Given the description of an element on the screen output the (x, y) to click on. 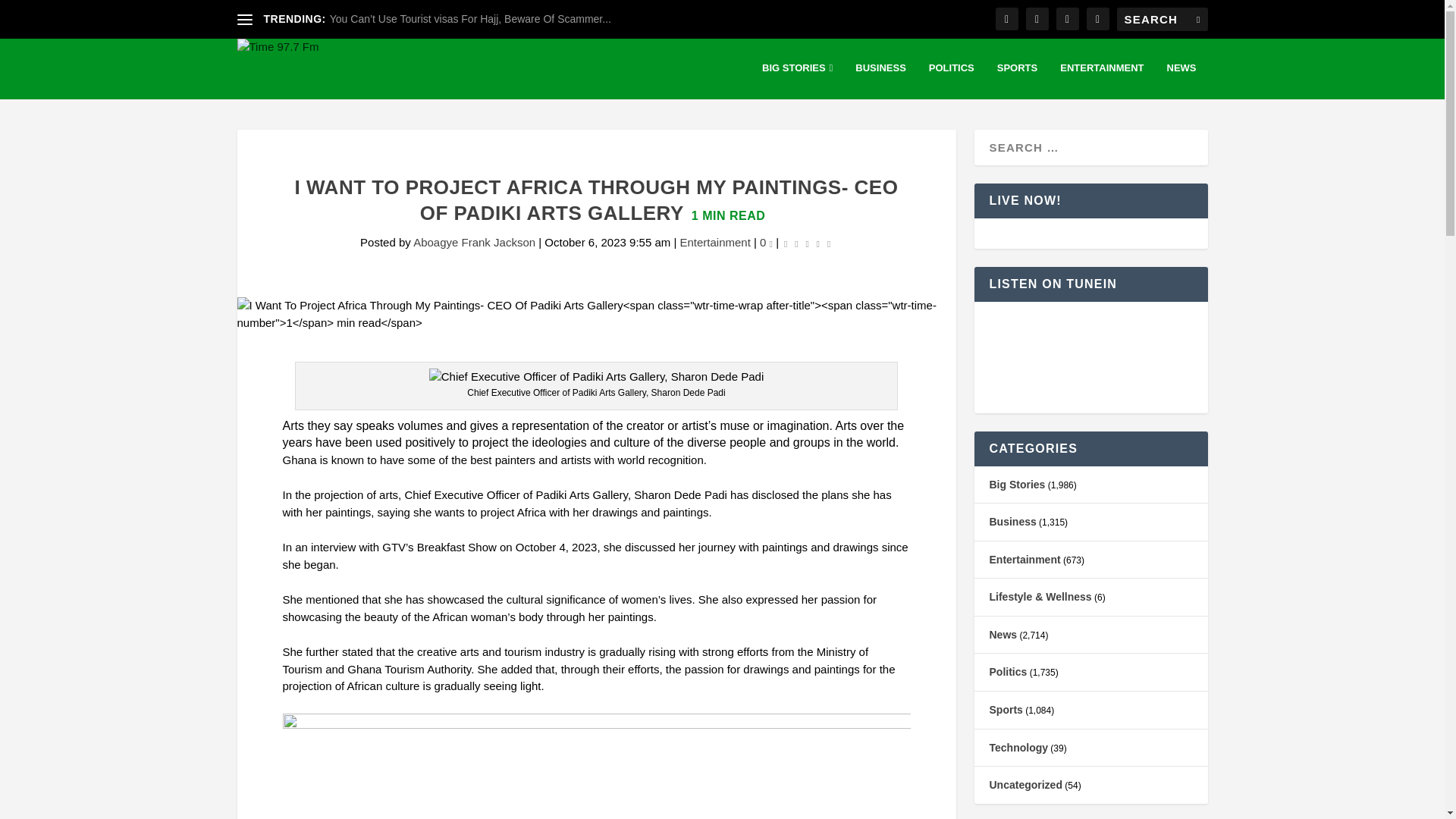
ENTERTAINMENT (1100, 80)
Entertainment (714, 241)
Aboagye Frank Jackson (474, 241)
BUSINESS (880, 80)
SPORTS (1016, 80)
BIG STORIES (796, 80)
0 (766, 241)
Search for: (1161, 19)
POLITICS (951, 80)
